Given the description of an element on the screen output the (x, y) to click on. 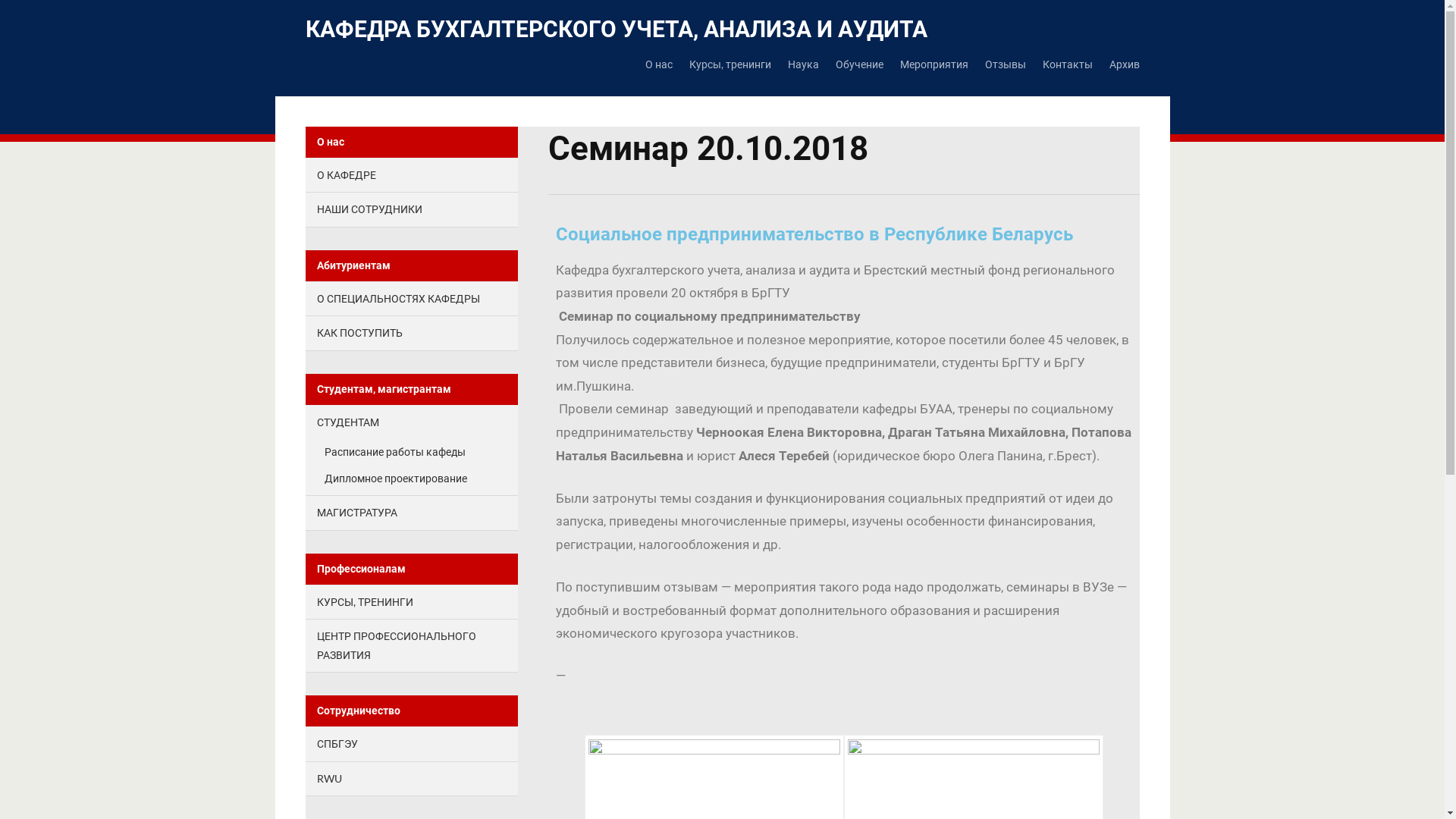
RWU Element type: text (329, 777)
